Given the description of an element on the screen output the (x, y) to click on. 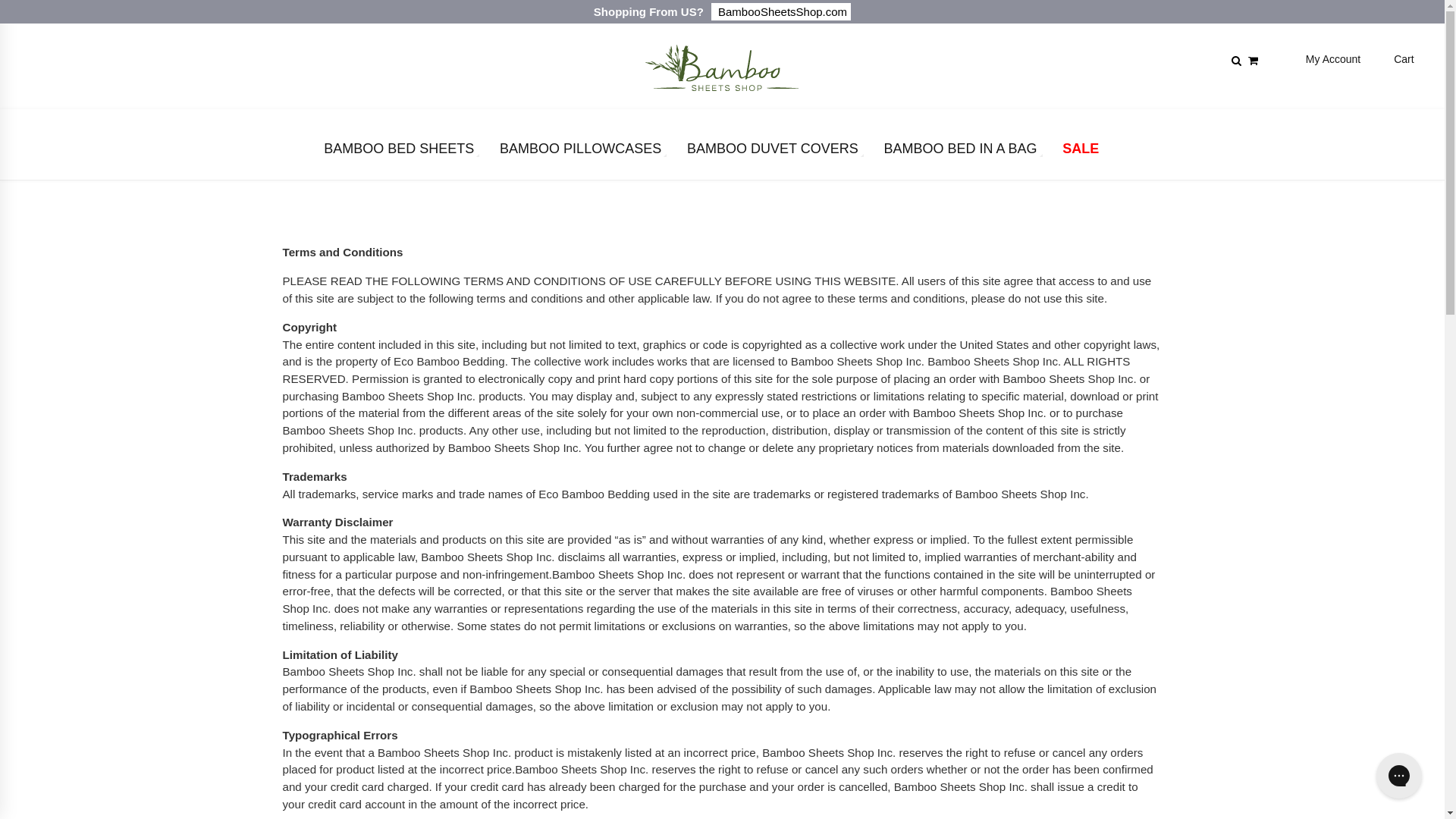
SALE Element type: text (1080, 152)
Gorgias live chat messenger Element type: hover (1398, 775)
BAMBOO DUVET COVERS Element type: text (772, 152)
BambooSheetsShop.com Element type: text (780, 11)
Cart Element type: text (1403, 59)
BAMBOO BED IN A BAG Element type: text (960, 152)
BAMBOO BED SHEETS Element type: text (399, 152)
BAMBOO PILLOWCASES Element type: text (580, 152)
My Account Element type: text (1332, 59)
